Given the description of an element on the screen output the (x, y) to click on. 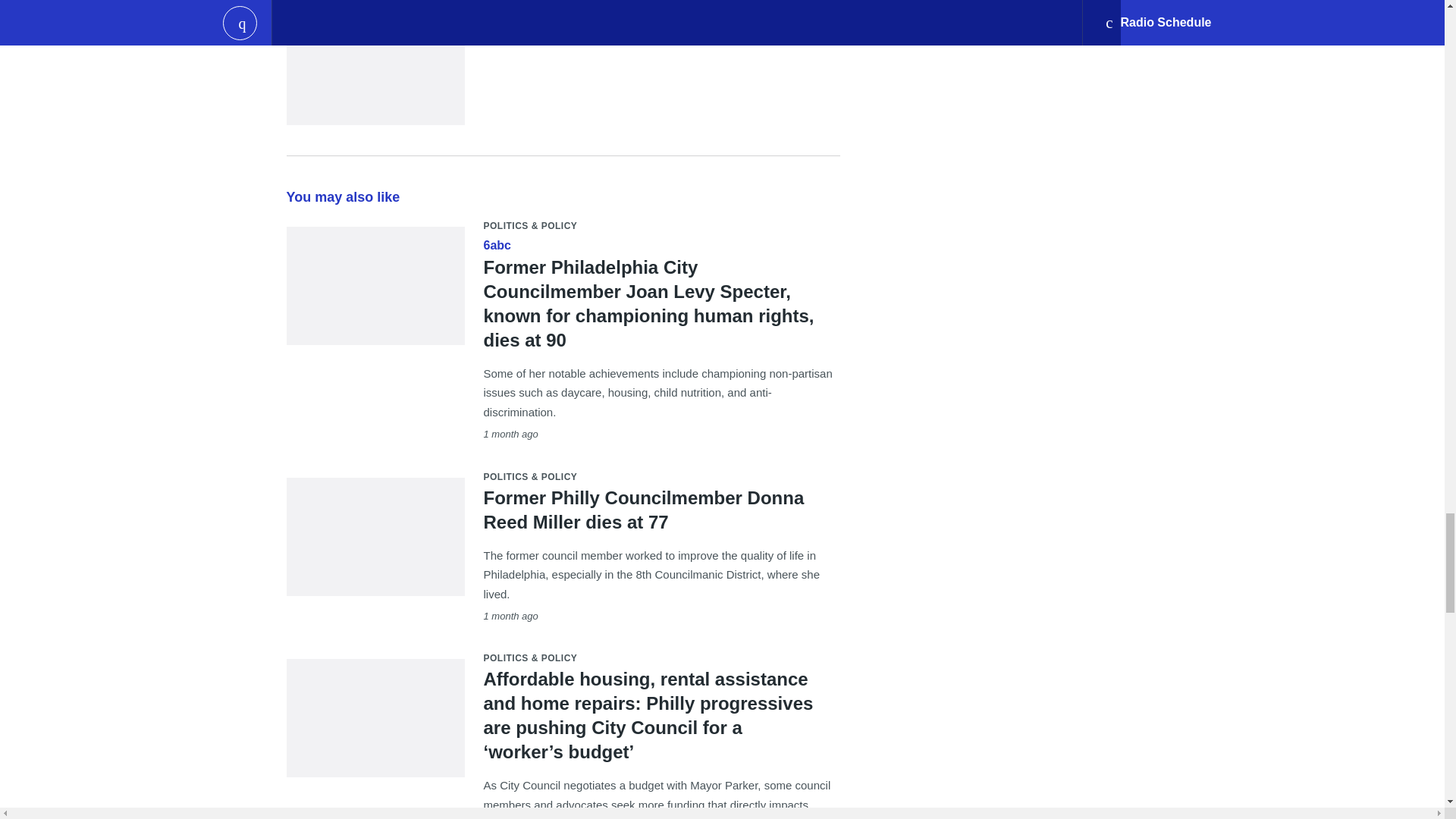
Former Philly Councilmember Donna Reed Miller dies at 77 (644, 508)
Former Philly Councilmember Donna Reed Miller dies at 77 (375, 566)
